Given the description of an element on the screen output the (x, y) to click on. 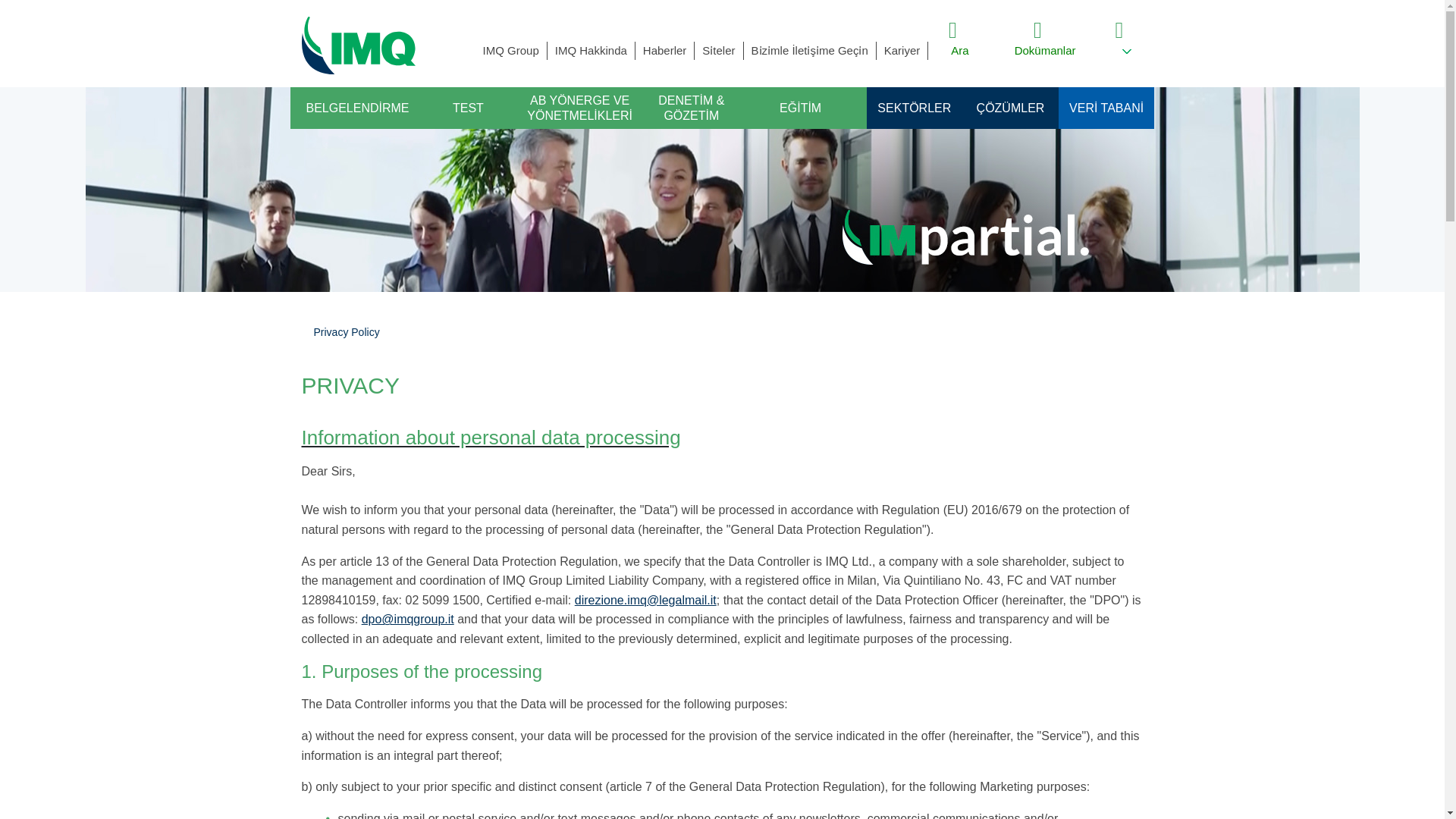
Haberler (664, 50)
Ara (959, 50)
Privacy Policy (347, 331)
BELGELENDIRME (357, 107)
IMQ Group (511, 50)
IMQ Hakkinda (590, 50)
TEST (467, 107)
Kariyer (902, 50)
VERI TABANI (1106, 107)
TEST (467, 107)
